Given the description of an element on the screen output the (x, y) to click on. 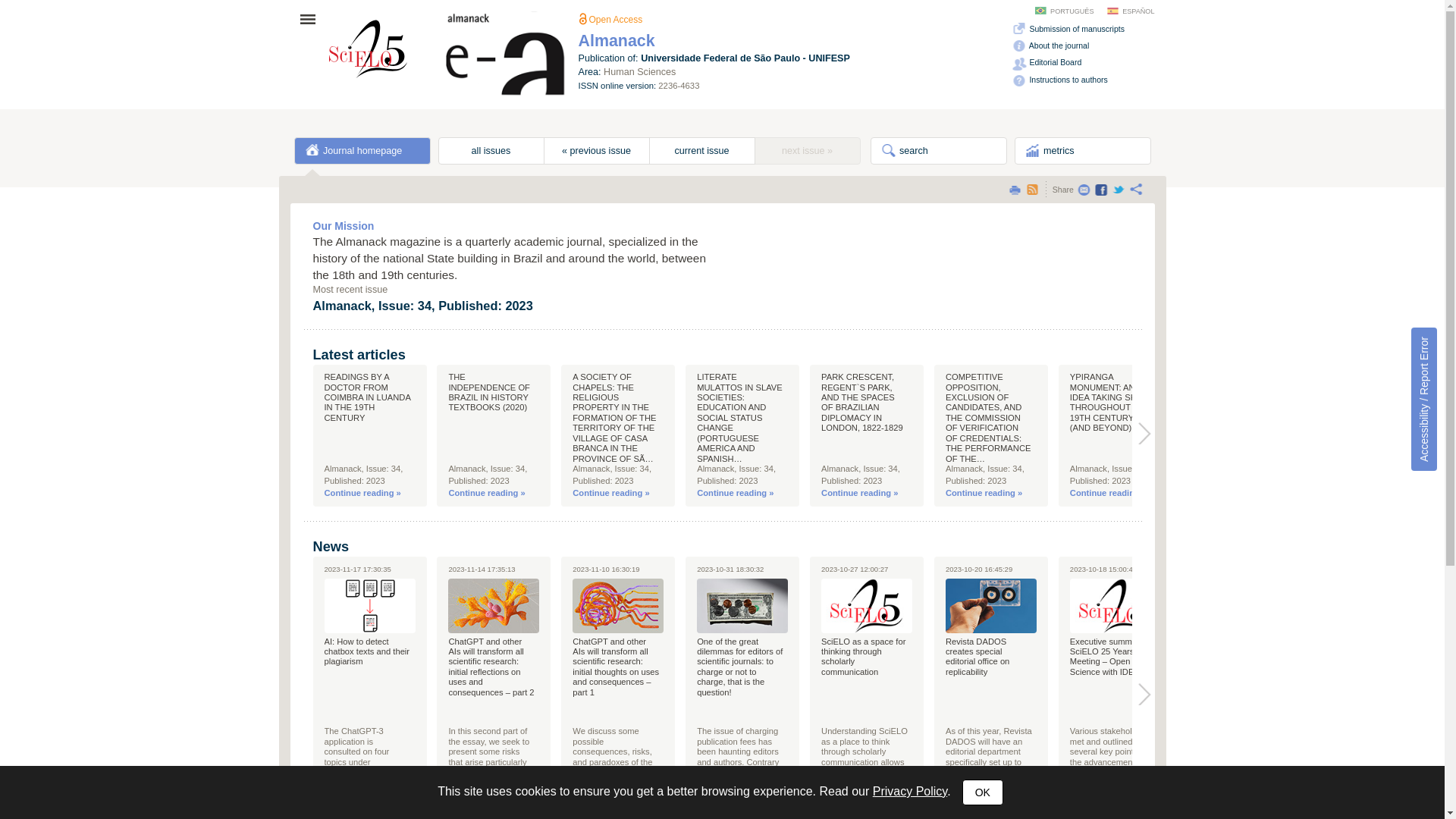
Submission of manuscripts Element type: text (1066, 28)
About the journal Element type: text (1049, 45)
Most recent issue
Almanack, Issue: 34, Published: 2023 Element type: text (598, 306)
Privacy Policy Element type: text (909, 790)
current issue Element type: text (702, 150)
Open menu Element type: text (312, 18)
Go to the home page of the collection:Brazil Element type: hover (368, 47)
search Element type: text (938, 150)
Editorial Board Element type: text (1045, 61)
Journal homepage Element type: text (362, 150)
all issues Element type: text (491, 150)
Accessibility / Report Error Element type: text (1424, 398)
OK Element type: text (982, 792)
metrics Element type: text (1082, 150)
Instructions to authors Element type: text (1058, 79)
